Given the description of an element on the screen output the (x, y) to click on. 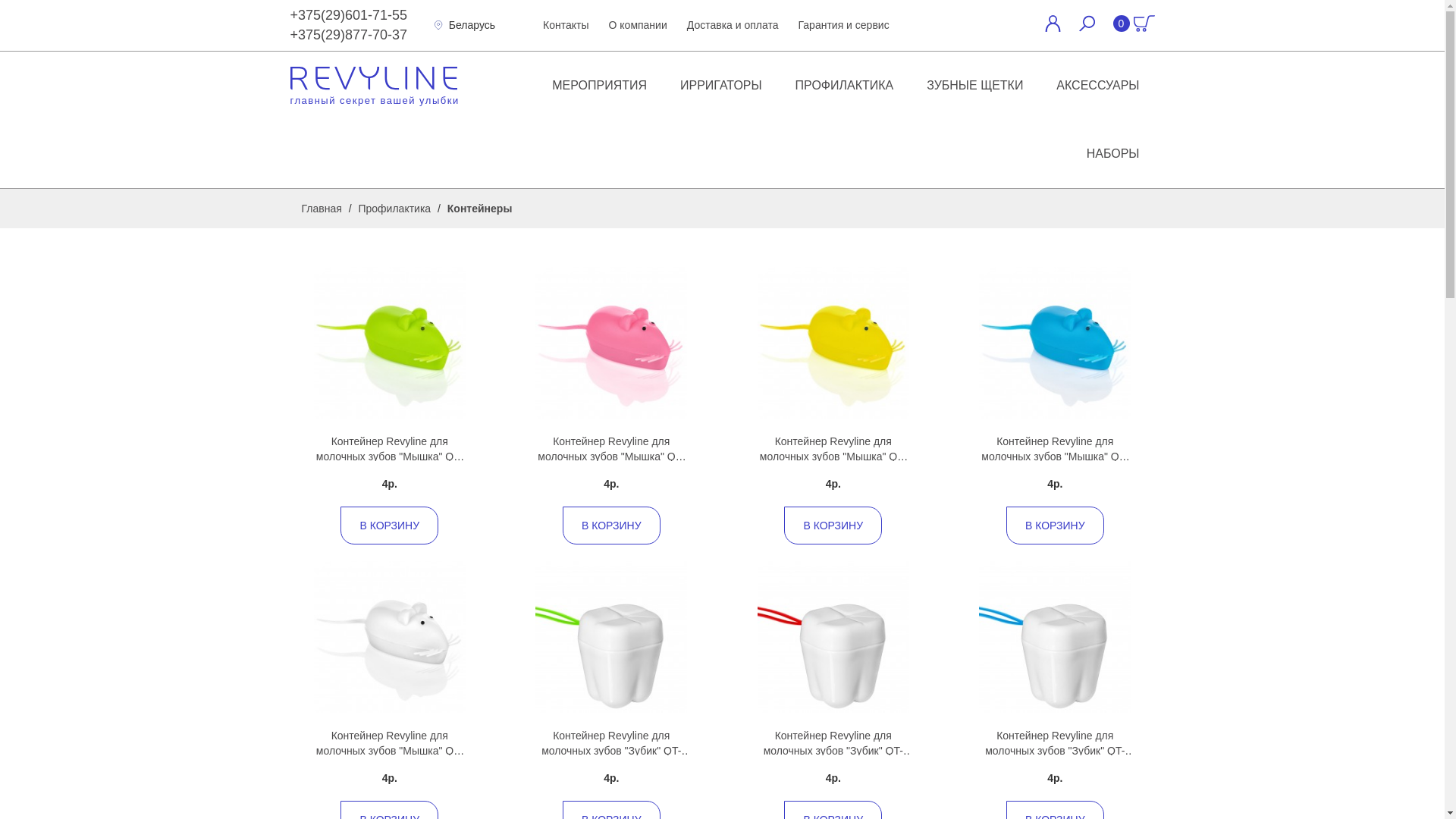
0 Element type: text (1133, 25)
+375(29)601-71-55 Element type: text (348, 14)
+375(29)877-70-37 Element type: text (348, 34)
